Given the description of an element on the screen output the (x, y) to click on. 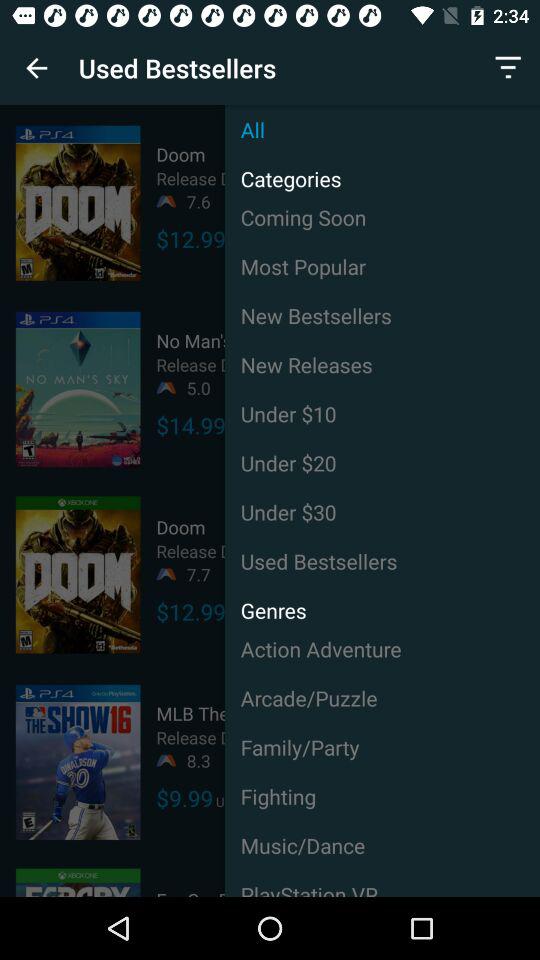
press the icon above the family/party icon (382, 698)
